Given the description of an element on the screen output the (x, y) to click on. 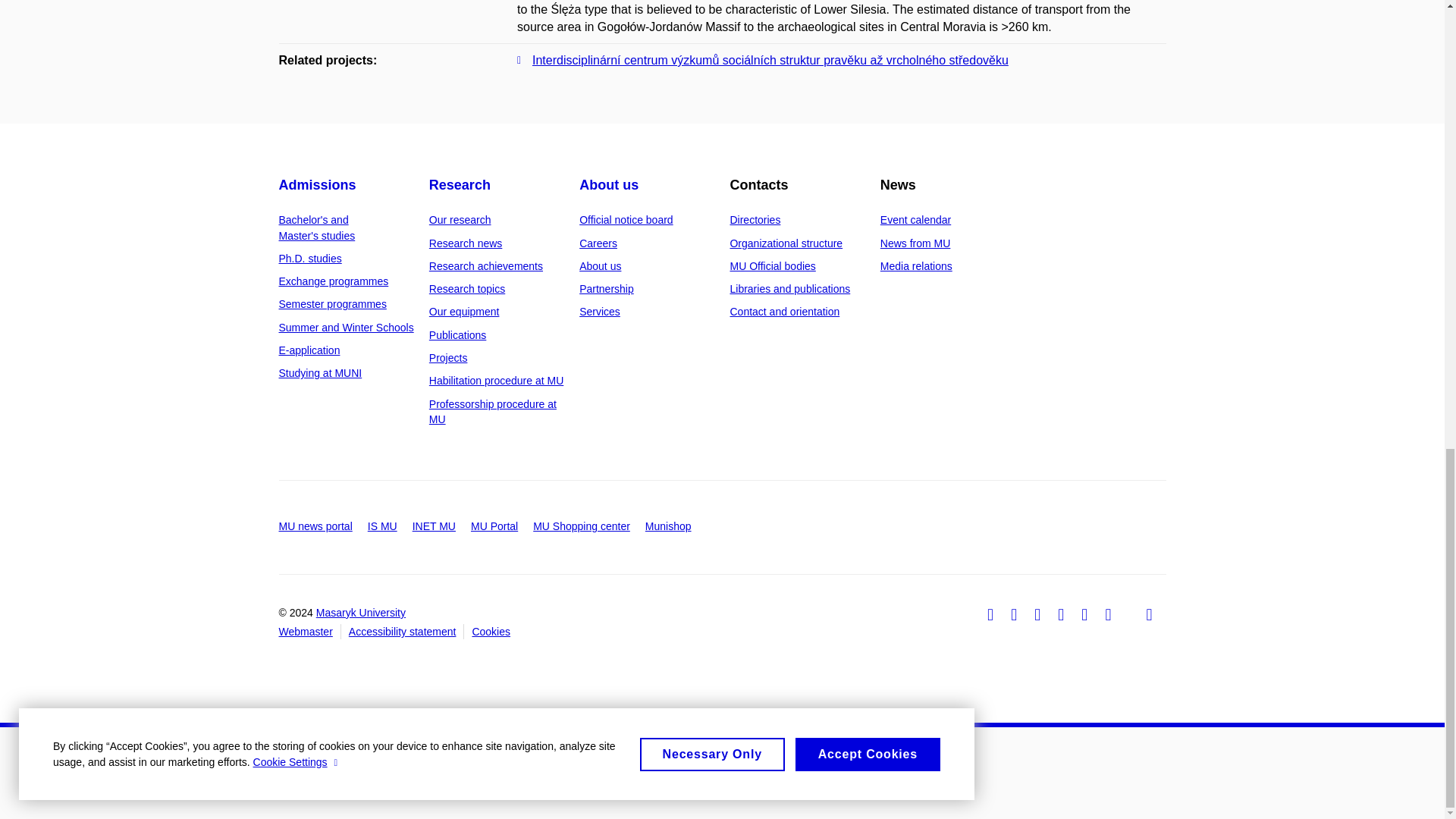
Semester programmes (333, 304)
Research achievements (486, 265)
Admissions (317, 184)
Publications (457, 335)
Projects (448, 357)
Our research (460, 219)
Research (459, 184)
Our equipment (464, 311)
E-application (309, 349)
Research news (465, 243)
